Given the description of an element on the screen output the (x, y) to click on. 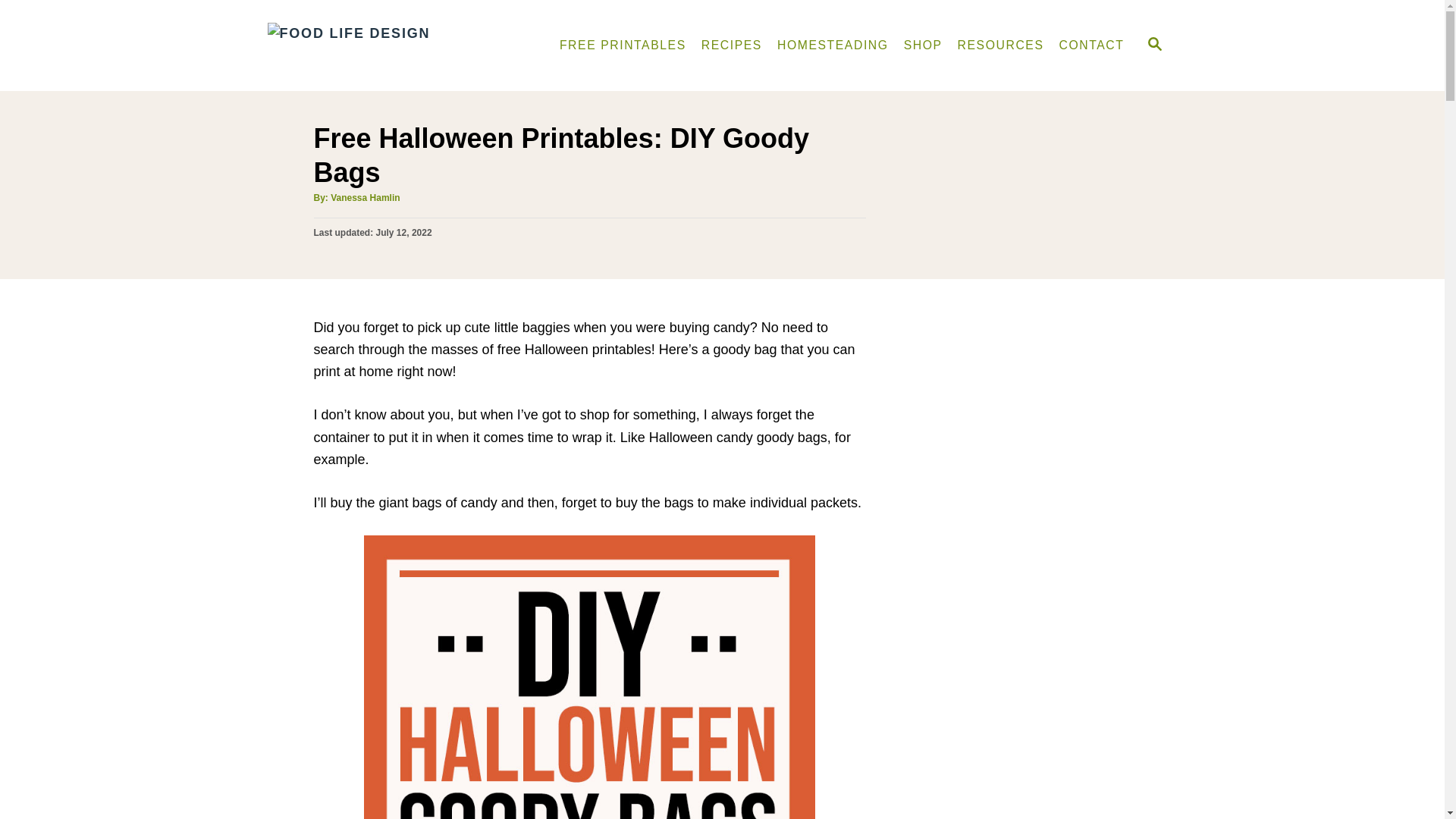
RECIPES (732, 45)
HOMESTEADING (833, 45)
Vanessa Hamlin (364, 197)
SEARCH (1153, 45)
RESOURCES (1000, 45)
CONTACT (1091, 45)
FREE PRINTABLES (622, 45)
Food Life Design (394, 45)
SHOP (923, 45)
